Given the description of an element on the screen output the (x, y) to click on. 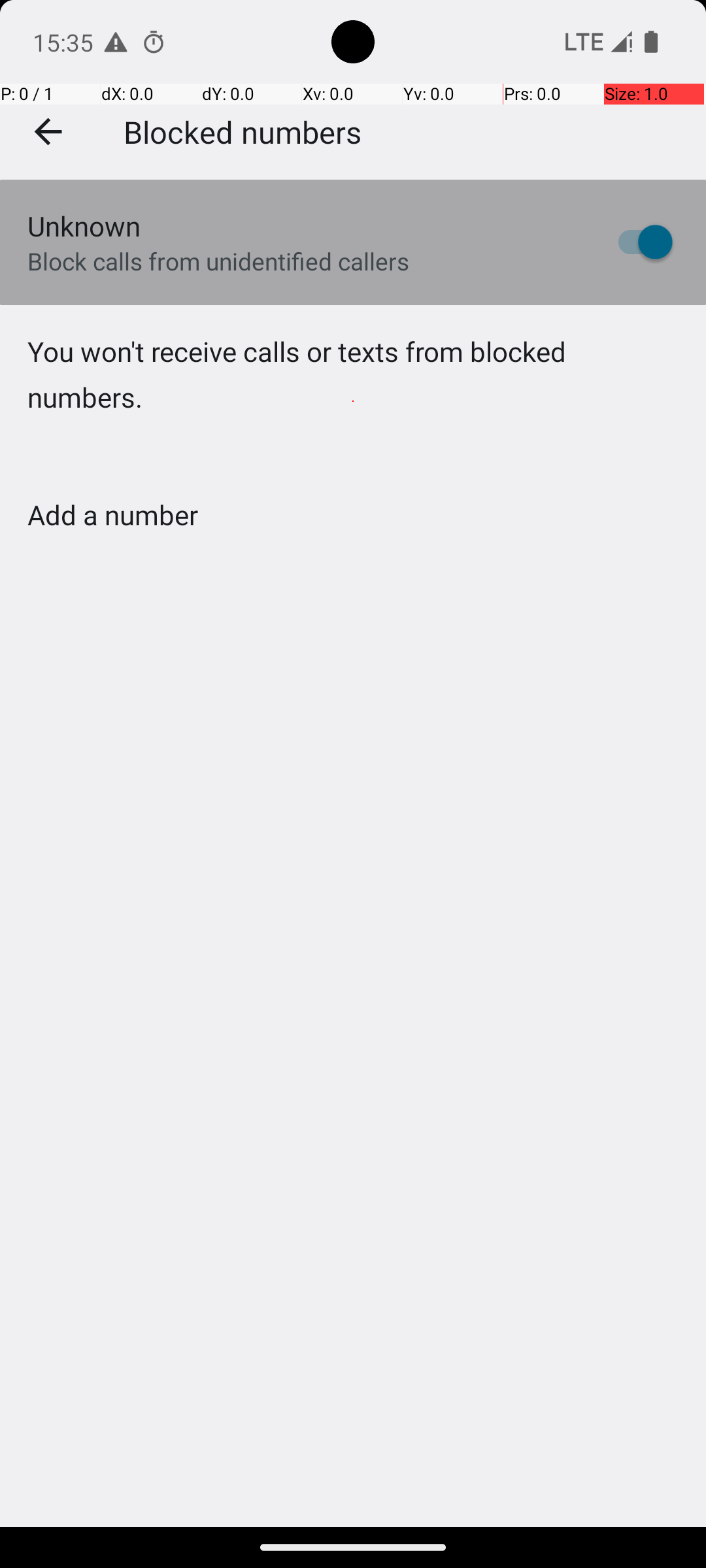
Blocked numbers Element type: android.widget.TextView (242, 131)
You won't receive calls or texts from blocked numbers. Element type: android.widget.TextView (352, 401)
Add a number Element type: android.widget.TextView (112, 514)
Unknown Element type: android.widget.TextView (83, 225)
Block calls from unidentified callers Element type: android.widget.TextView (218, 260)
15:35 Element type: android.widget.TextView (64, 41)
